Given the description of an element on the screen output the (x, y) to click on. 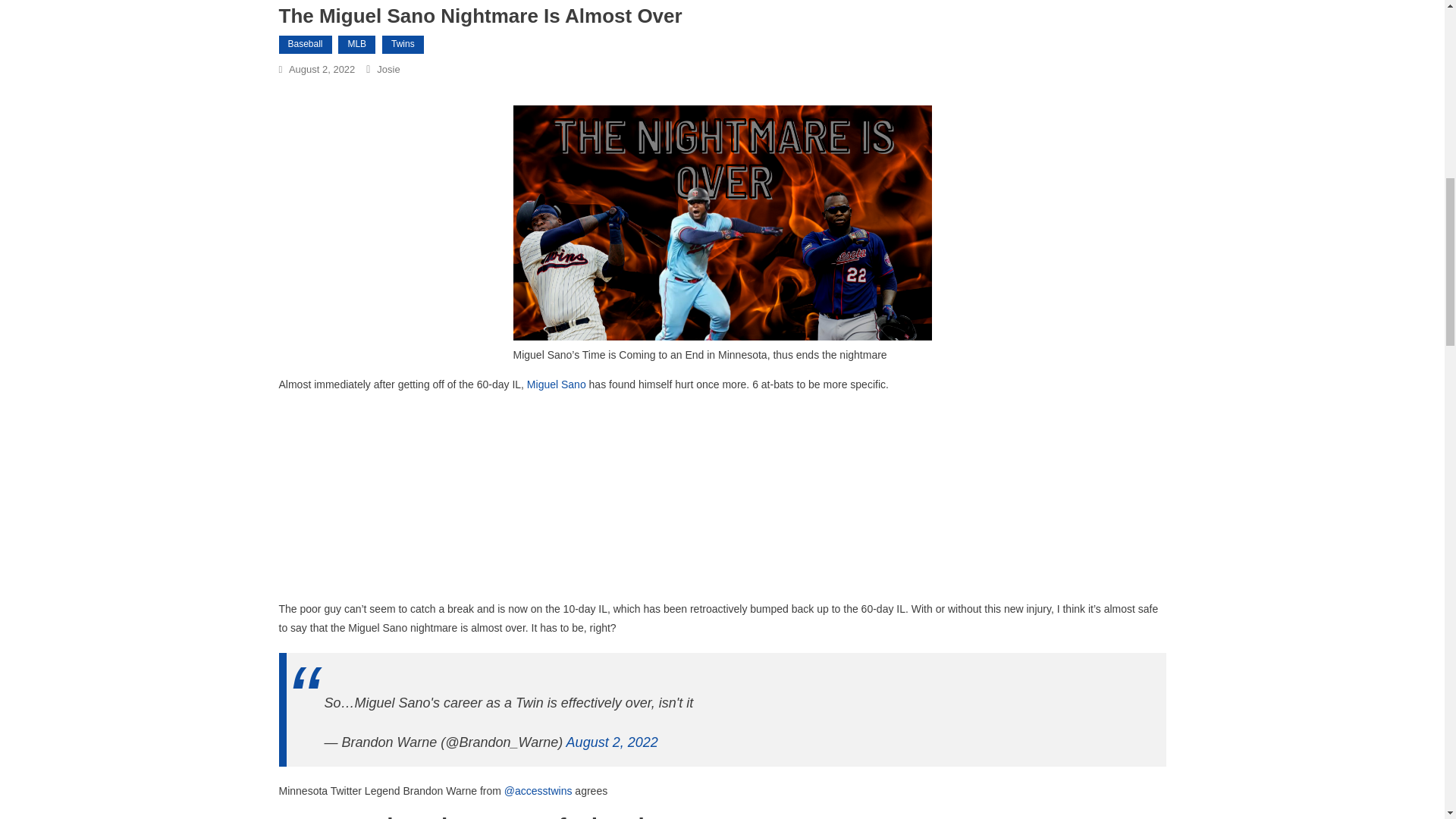
Baseball (305, 45)
Miguel Sano (556, 384)
MLB (356, 45)
Twins (402, 45)
3rd party ad content (721, 504)
August 2, 2022 (321, 69)
Josie (387, 69)
August 2, 2022 (612, 742)
